Given the description of an element on the screen output the (x, y) to click on. 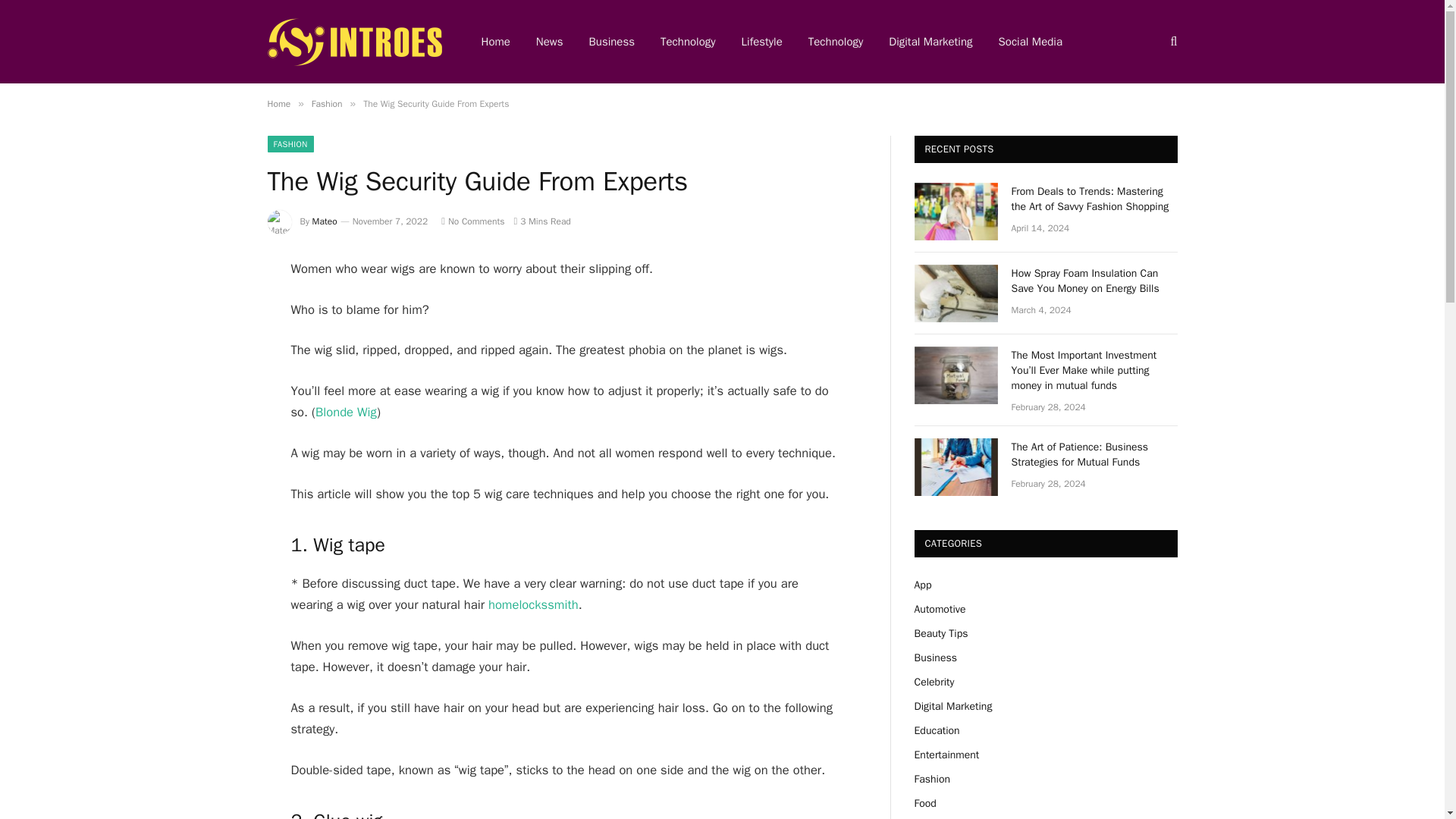
homelockssmith (532, 604)
Fashion (326, 103)
Home (277, 103)
FASHION (289, 143)
How Spray Foam Insulation Can Save You Money on Energy Bills (955, 293)
No Comments (472, 221)
Posts by Mateo (325, 221)
The Art of Patience: Business Strategies for Mutual Funds (1094, 454)
Digital Marketing (930, 41)
